Given the description of an element on the screen output the (x, y) to click on. 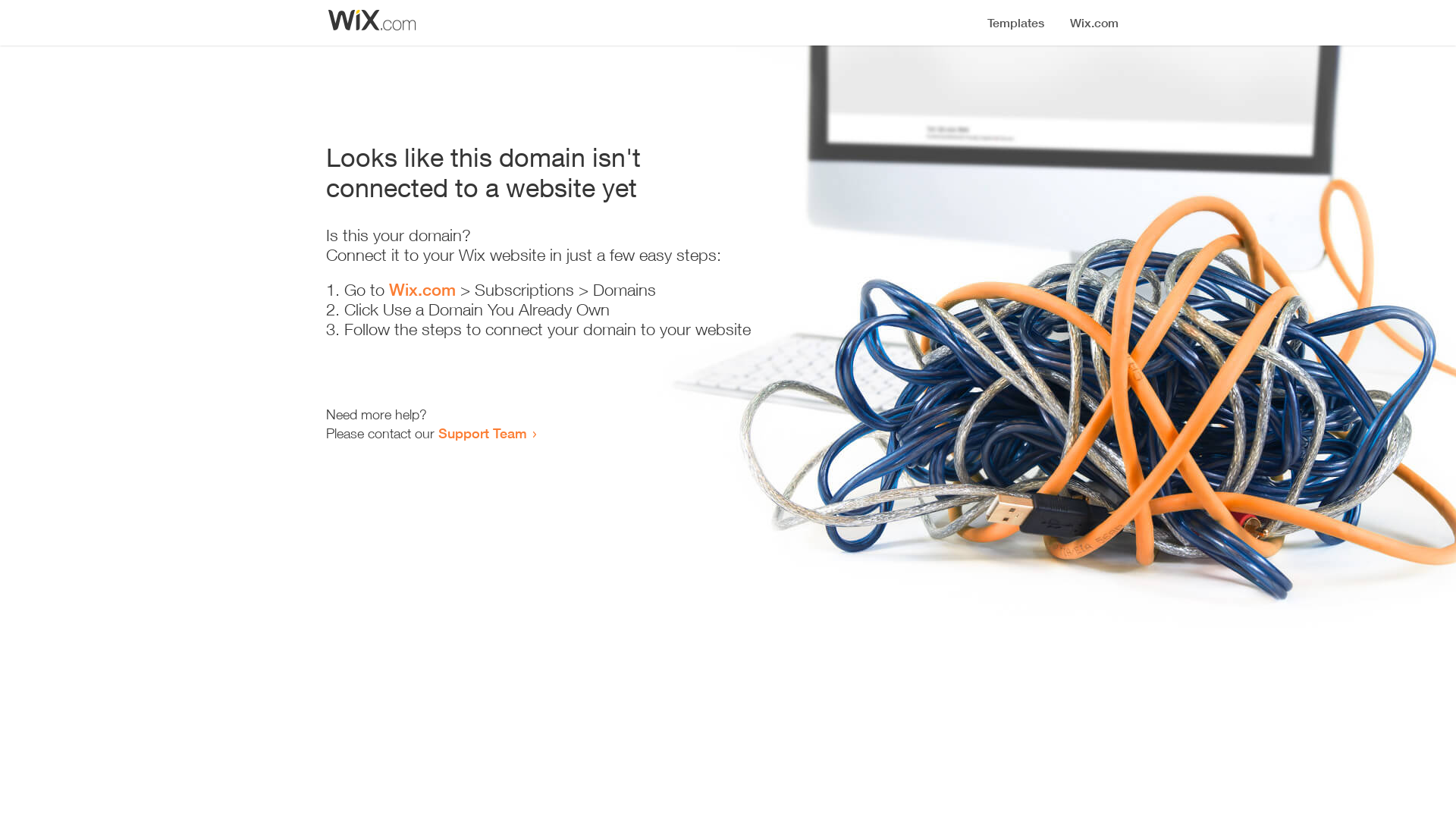
Support Team Element type: text (482, 432)
Wix.com Element type: text (422, 289)
